Given the description of an element on the screen output the (x, y) to click on. 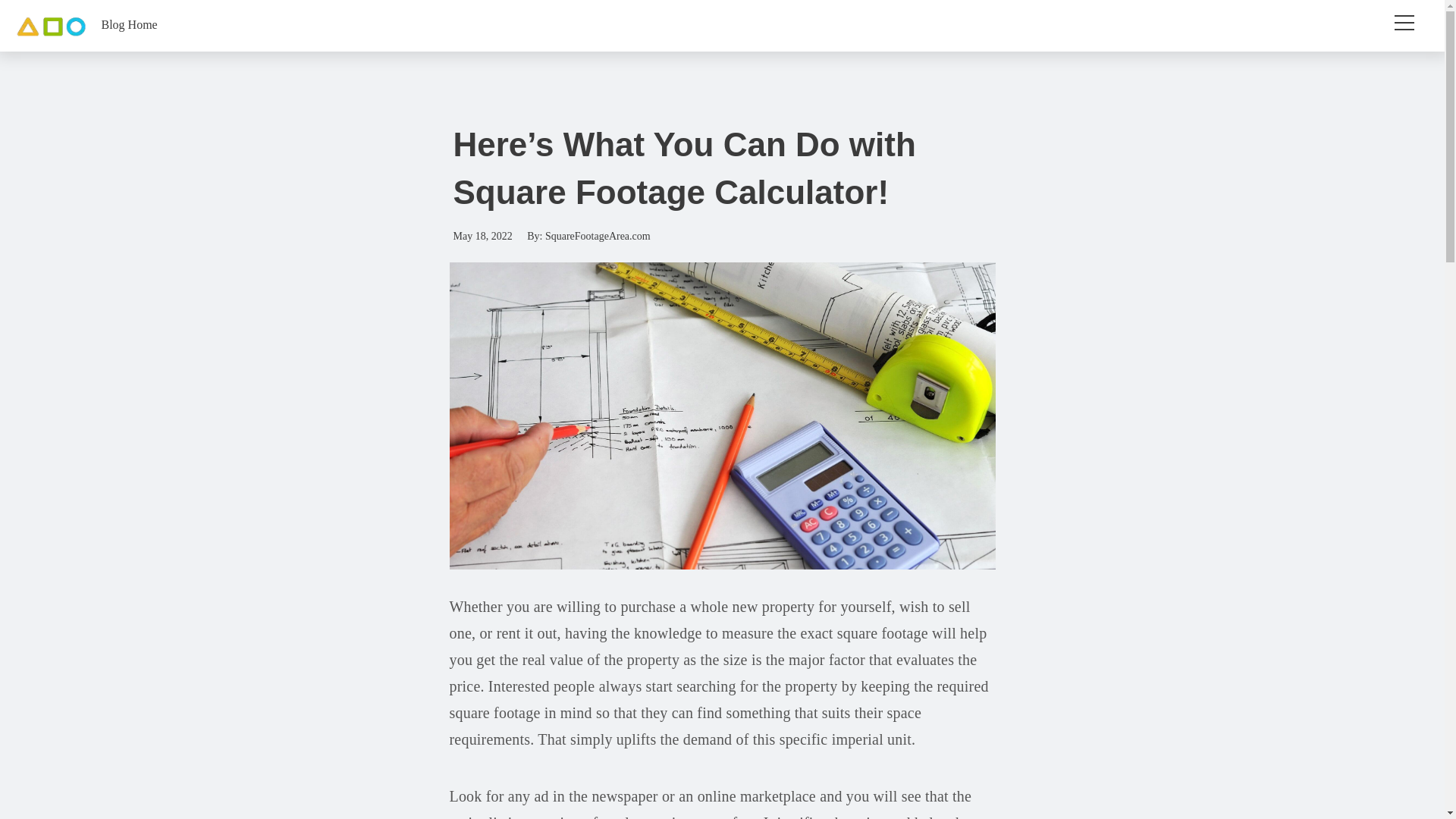
Blog Home (129, 24)
